Given the description of an element on the screen output the (x, y) to click on. 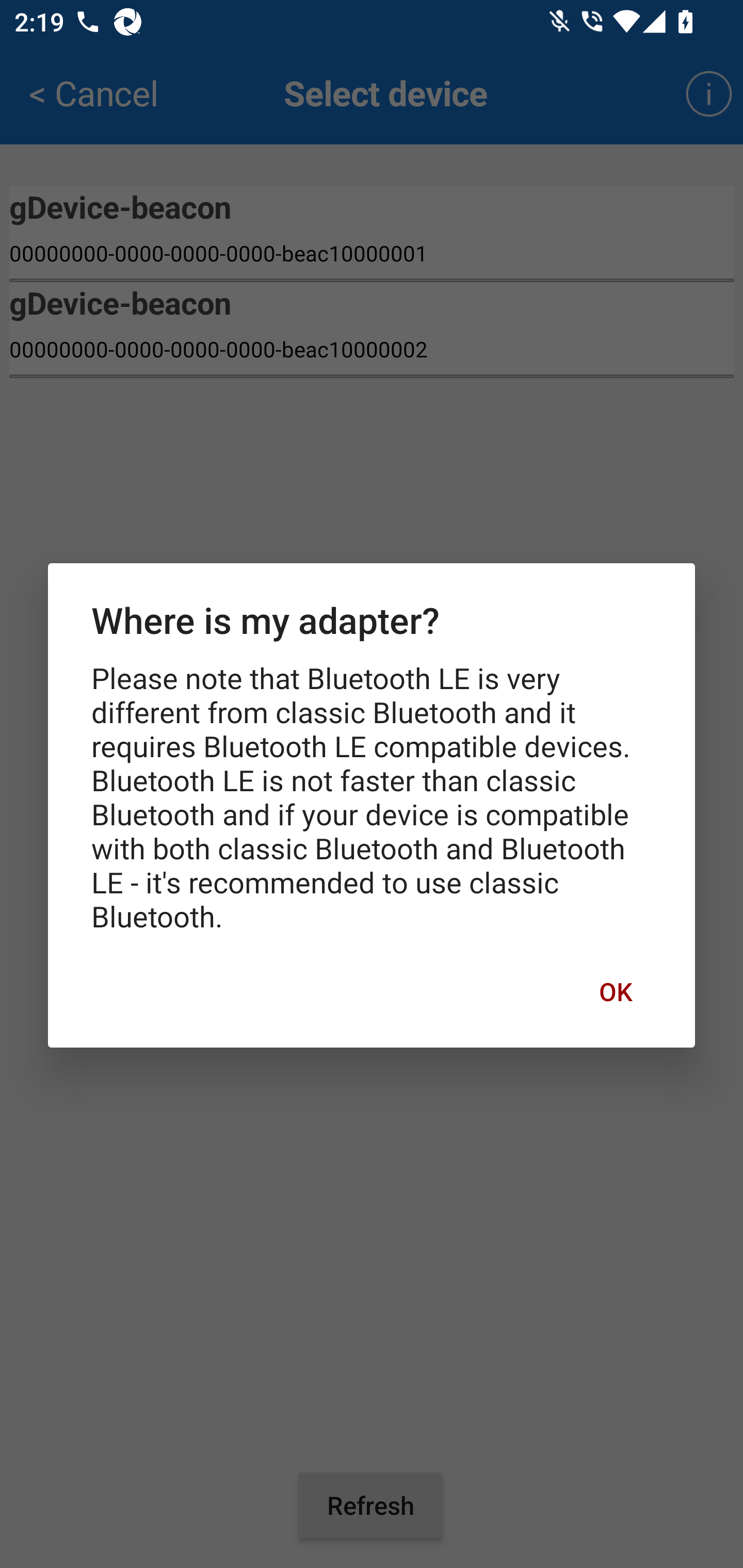
OK (615, 990)
